Given the description of an element on the screen output the (x, y) to click on. 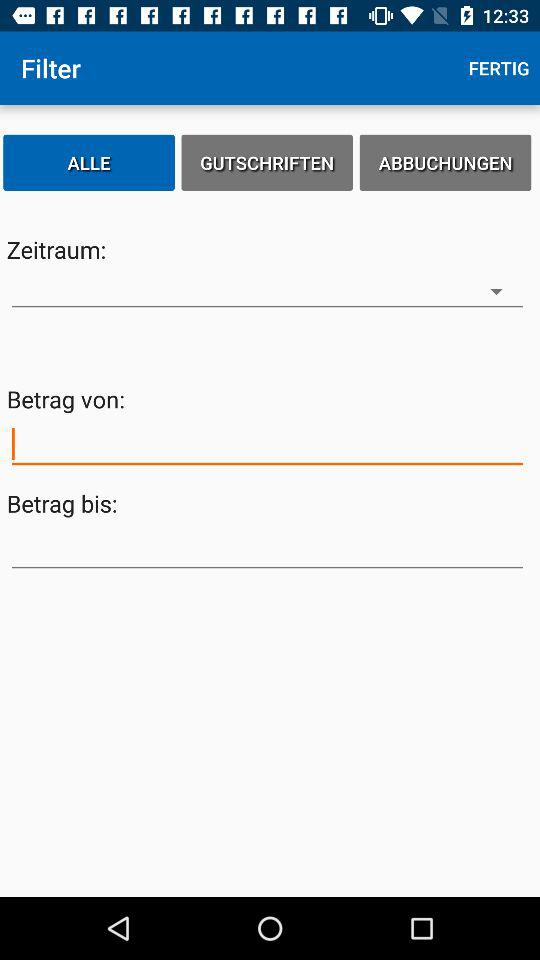
open item next to the gutschriften icon (89, 162)
